Given the description of an element on the screen output the (x, y) to click on. 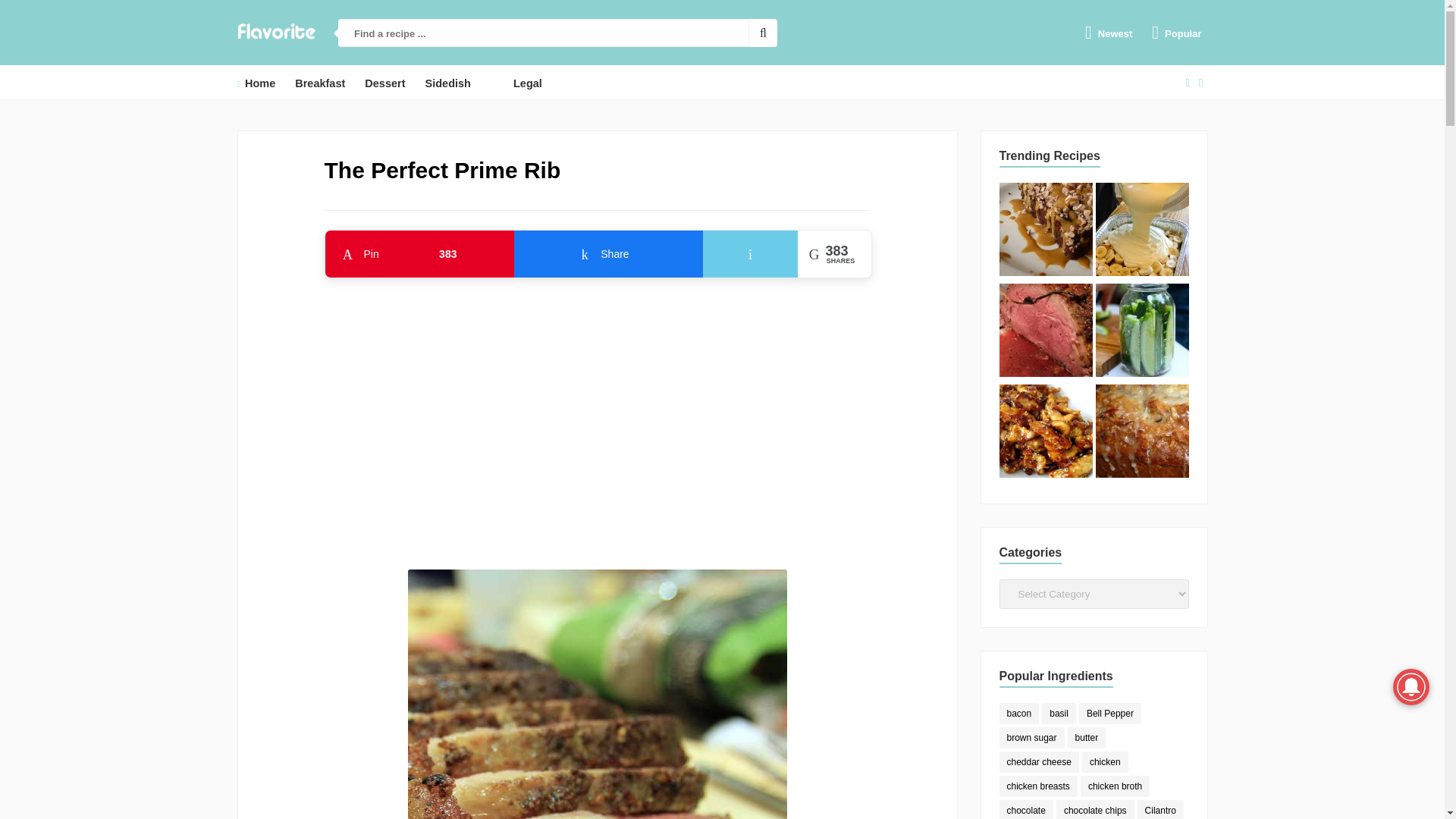
Home (418, 264)
Advertisement (255, 82)
Share (597, 416)
Newest (608, 264)
Dessert (1108, 33)
Inside Out Truffle Cake (384, 82)
Sidedish (1045, 231)
Jamaican Banana Bread (448, 82)
The Best Banana Pudding Ever (1141, 433)
Poor Mans Prime Rib (1141, 231)
Popular (1045, 332)
Slow Cooker Teriyaki Chicken (1176, 33)
Legal (1045, 433)
